Given the description of an element on the screen output the (x, y) to click on. 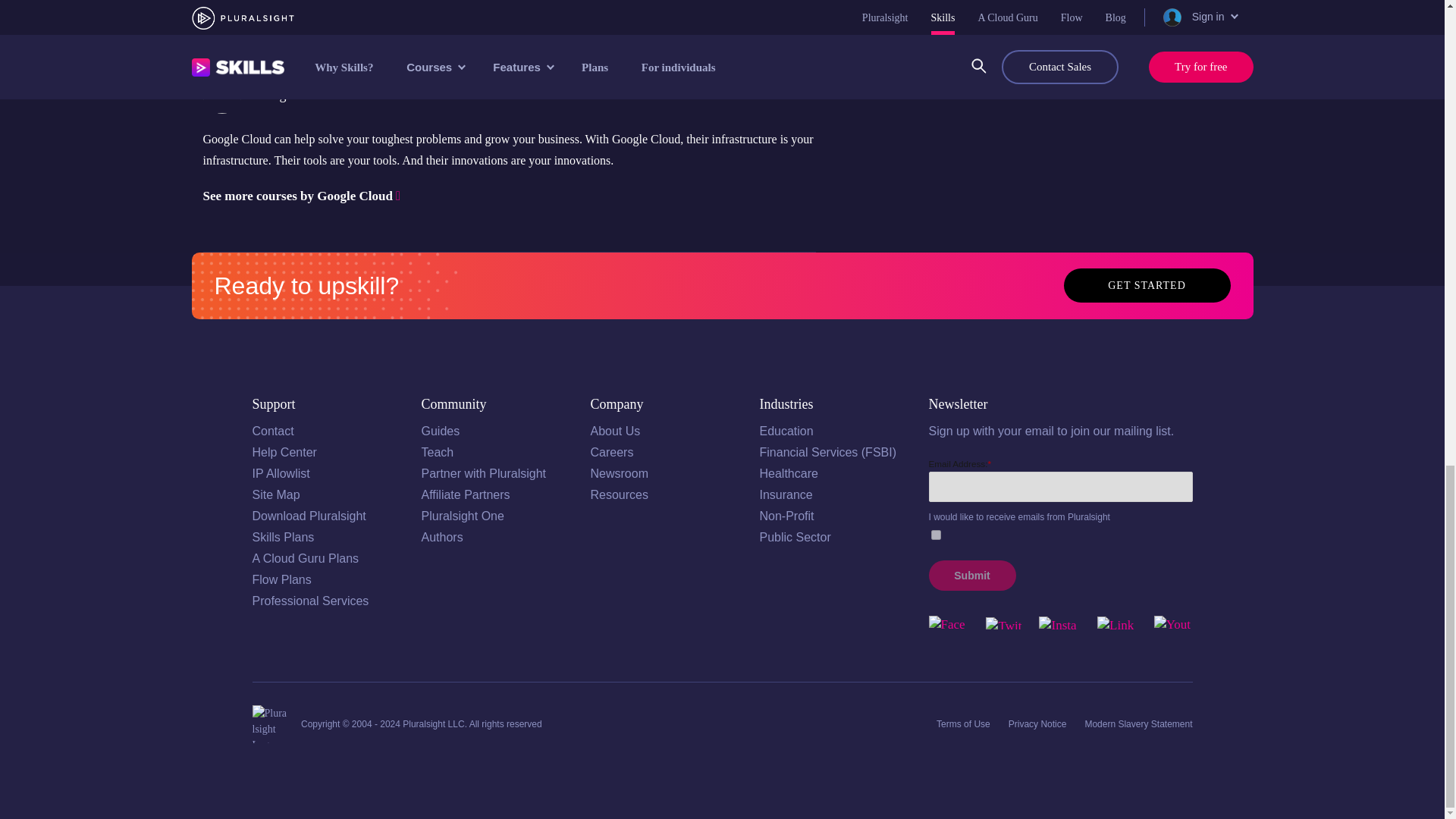
yes (935, 534)
Get started (1146, 285)
